Given the description of an element on the screen output the (x, y) to click on. 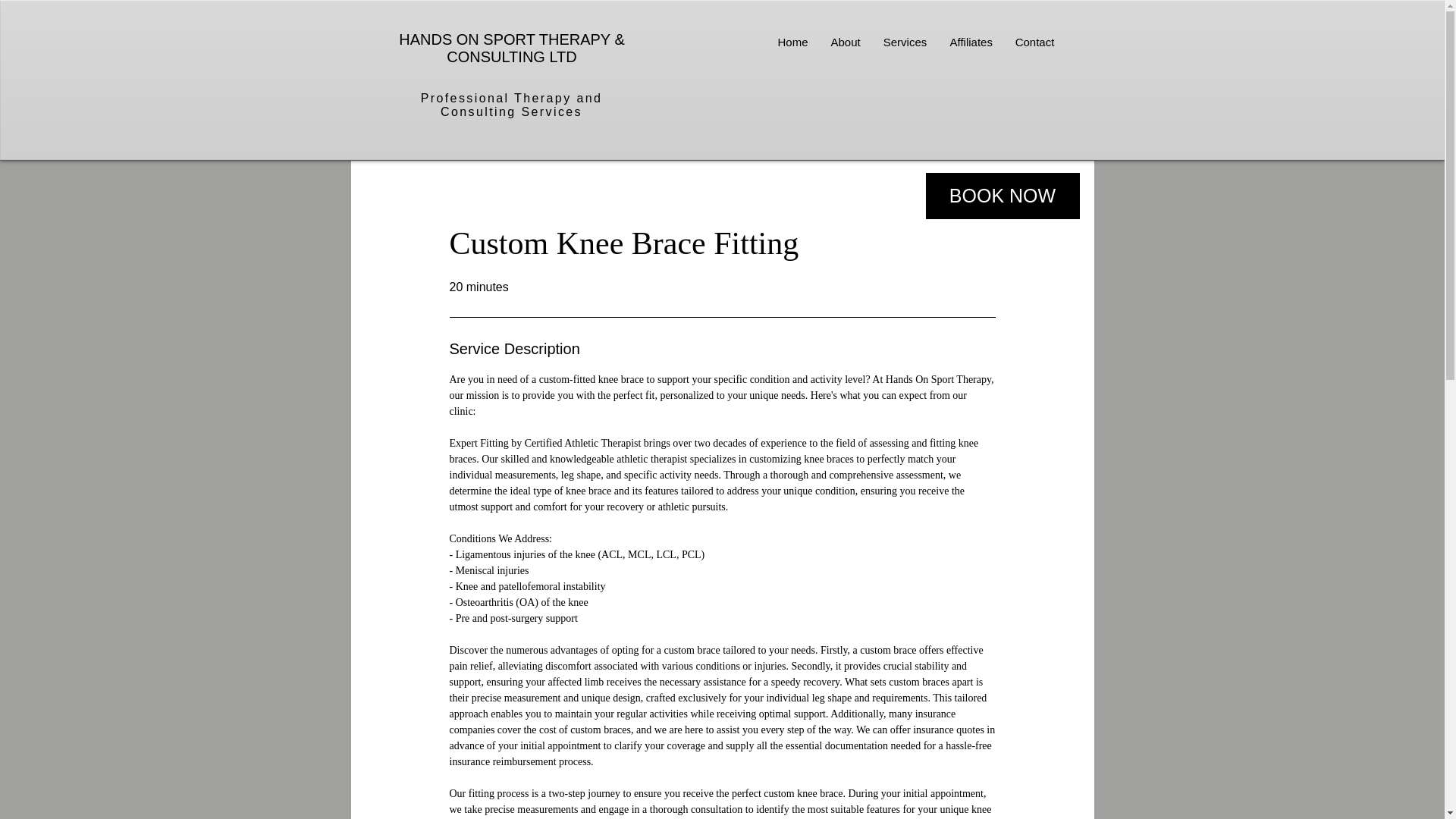
Professional Therapy and Consulting Services (511, 104)
About (844, 42)
Home (791, 42)
Services (905, 42)
BOOK NOW (1001, 195)
Contact (1034, 42)
Affiliates (971, 42)
